Given the description of an element on the screen output the (x, y) to click on. 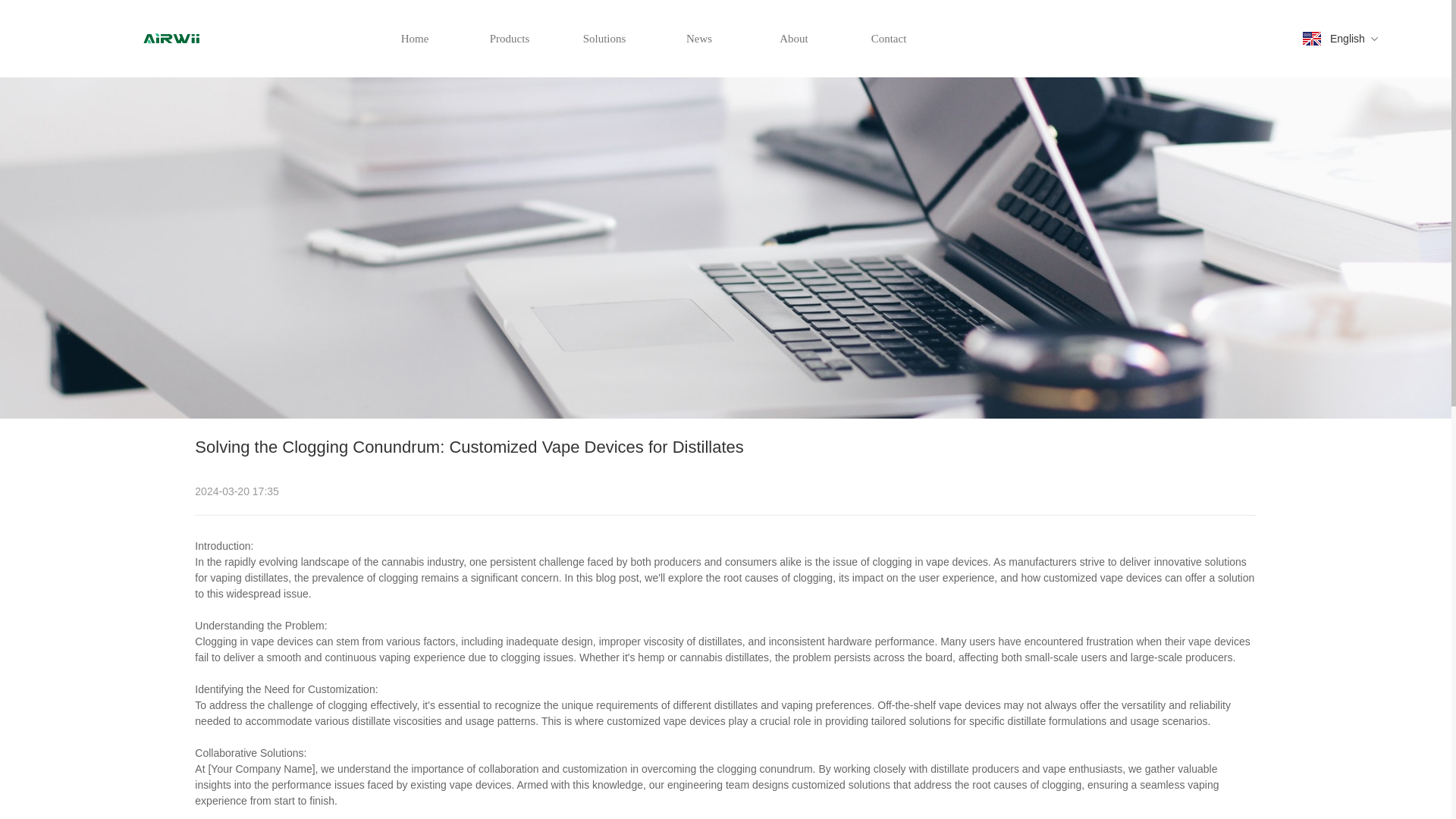
News (699, 38)
LOGO (170, 38)
About (793, 38)
Solutions (603, 38)
Home (414, 38)
Contact (888, 38)
Products (510, 38)
